Given the description of an element on the screen output the (x, y) to click on. 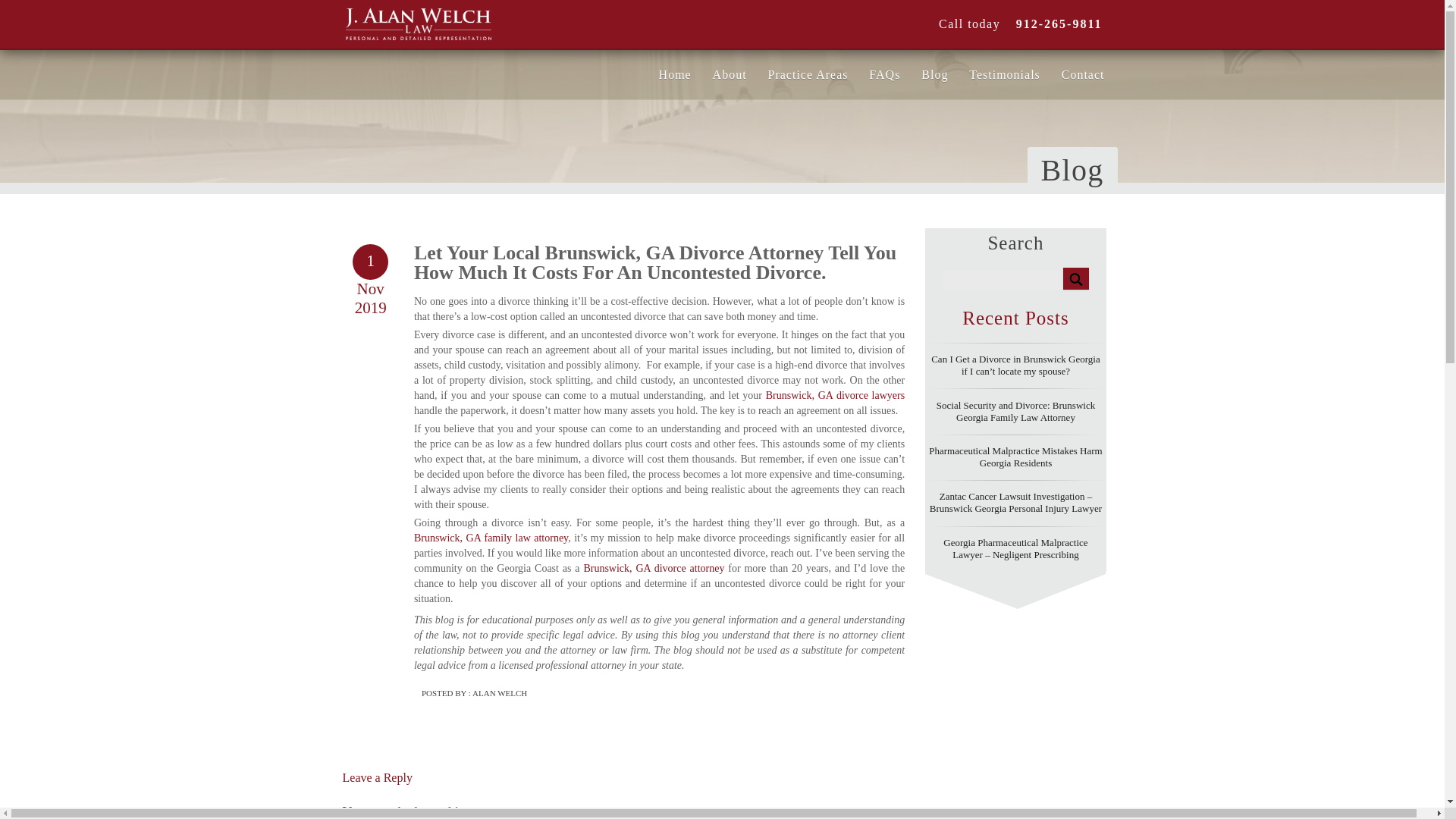
912-265-9811 (1053, 23)
Search (1075, 278)
Contact (1082, 74)
ALAN WELCH (499, 692)
Blog (934, 74)
Practice Areas (807, 74)
FAQs (884, 74)
Brunswick, GA divorce attorney (653, 568)
Testimonials (1004, 74)
J. Alan Welch Law (419, 20)
View all posts by Alan Welch (499, 692)
About (729, 74)
J. Alan Welch Law (464, 20)
Pharmaceutical Malpractice Mistakes Harm Georgia Residents (1015, 456)
